Given the description of an element on the screen output the (x, y) to click on. 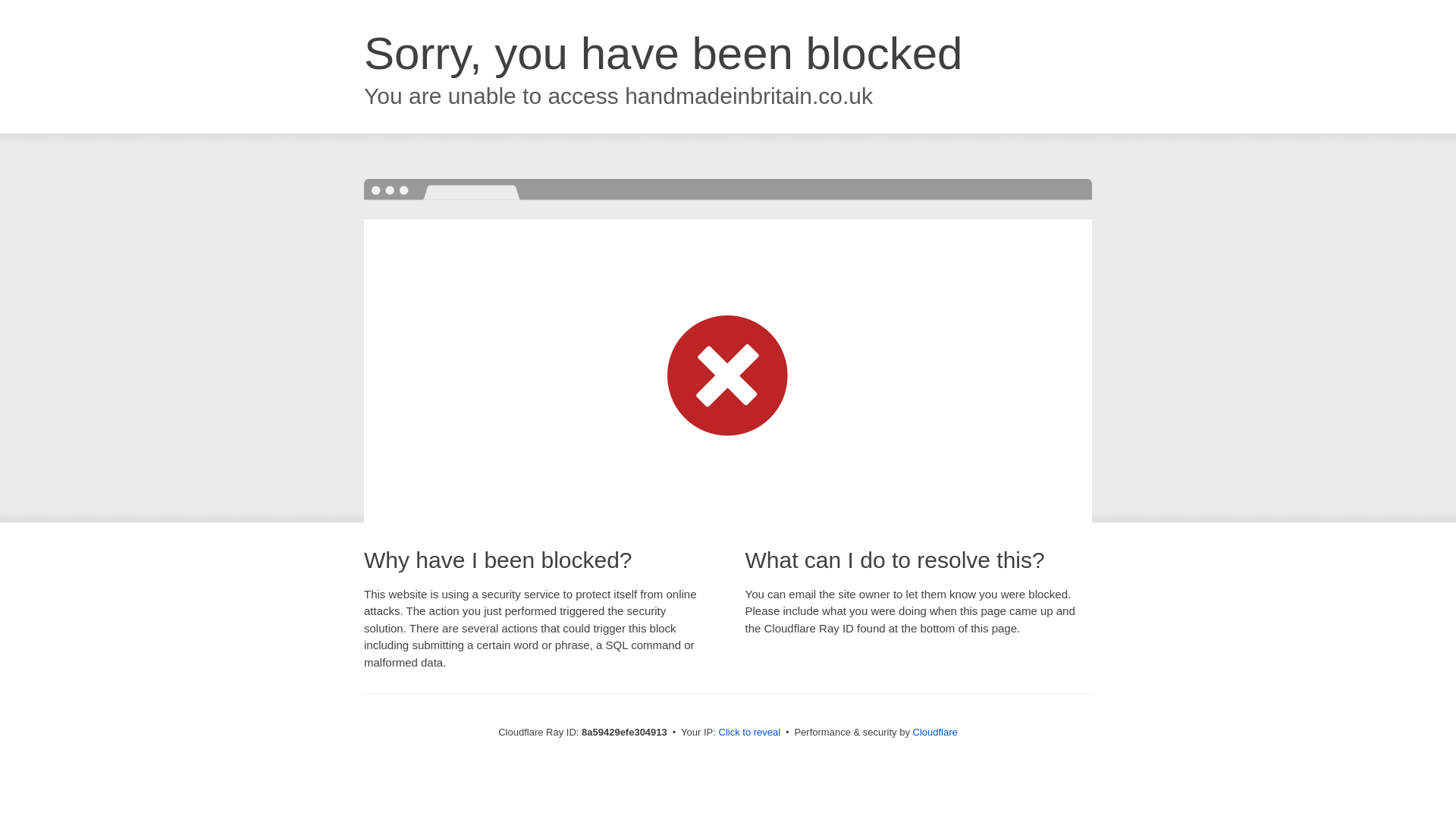
Cloudflare (935, 731)
Click to reveal (749, 732)
